Given the description of an element on the screen output the (x, y) to click on. 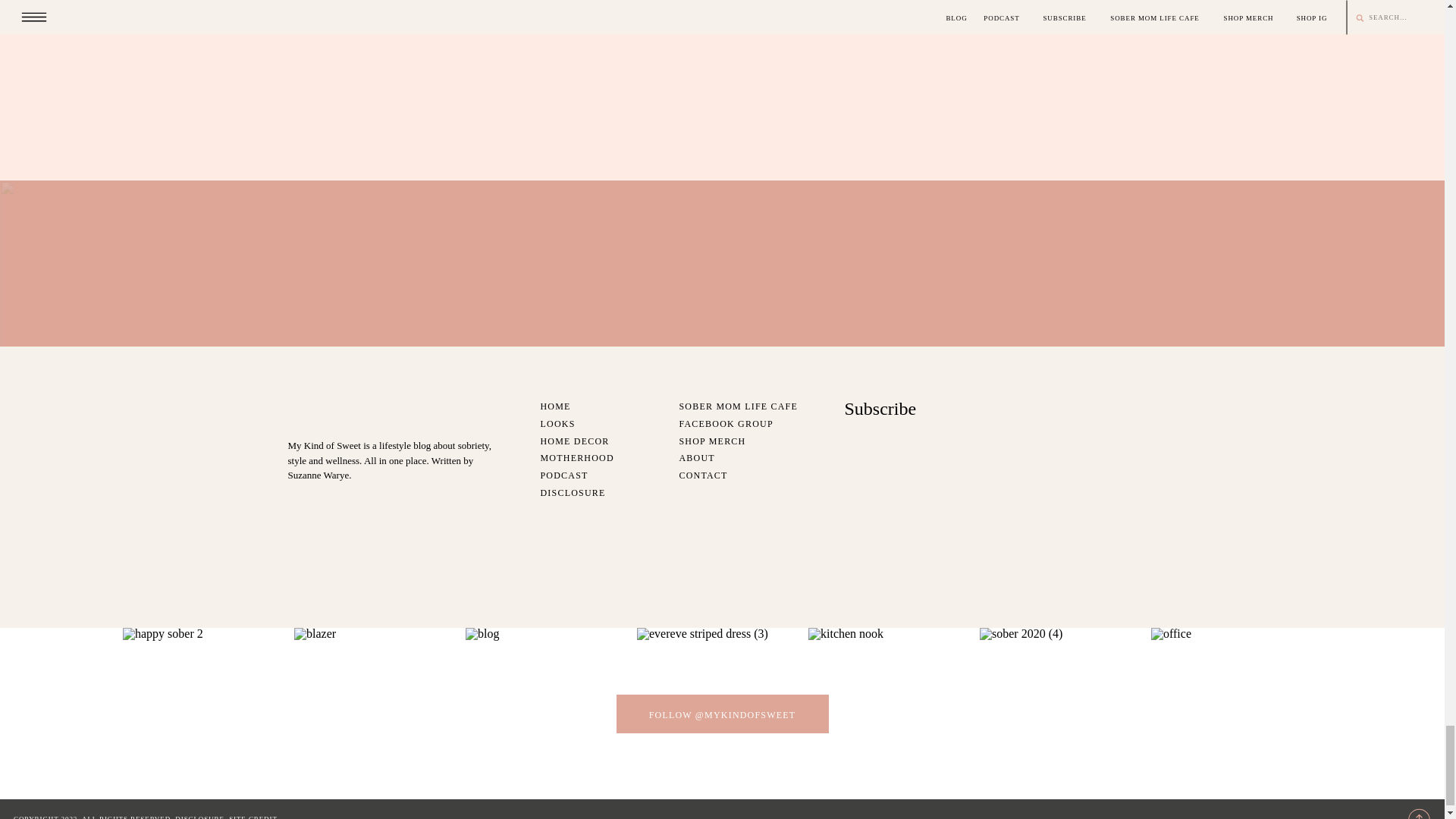
kitchen nook (893, 713)
blazer (379, 713)
happy sober 2 (208, 713)
blog (551, 713)
